Given the description of an element on the screen output the (x, y) to click on. 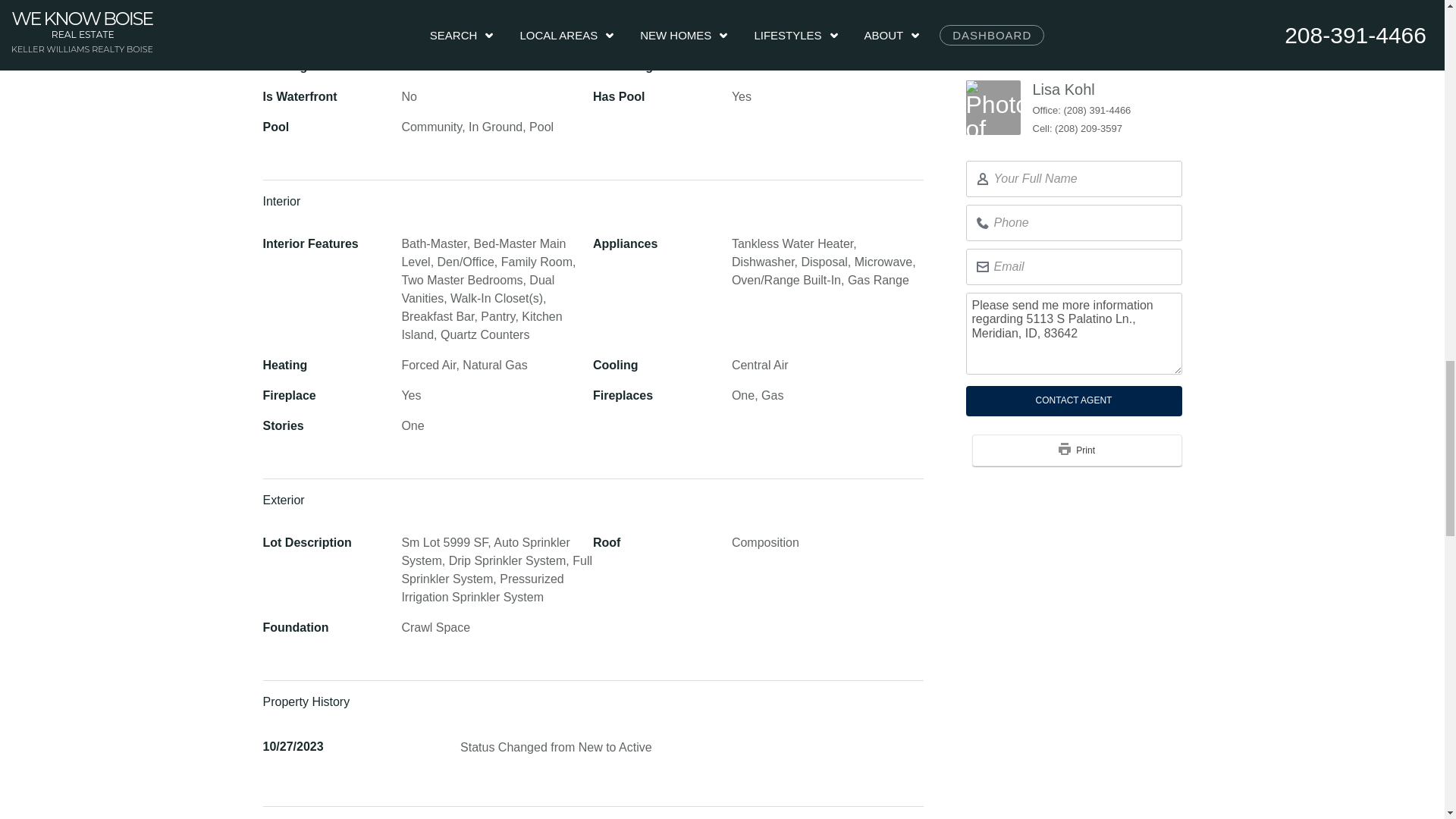
Fri. Oct. 27th, 2023 (292, 746)
